Given the description of an element on the screen output the (x, y) to click on. 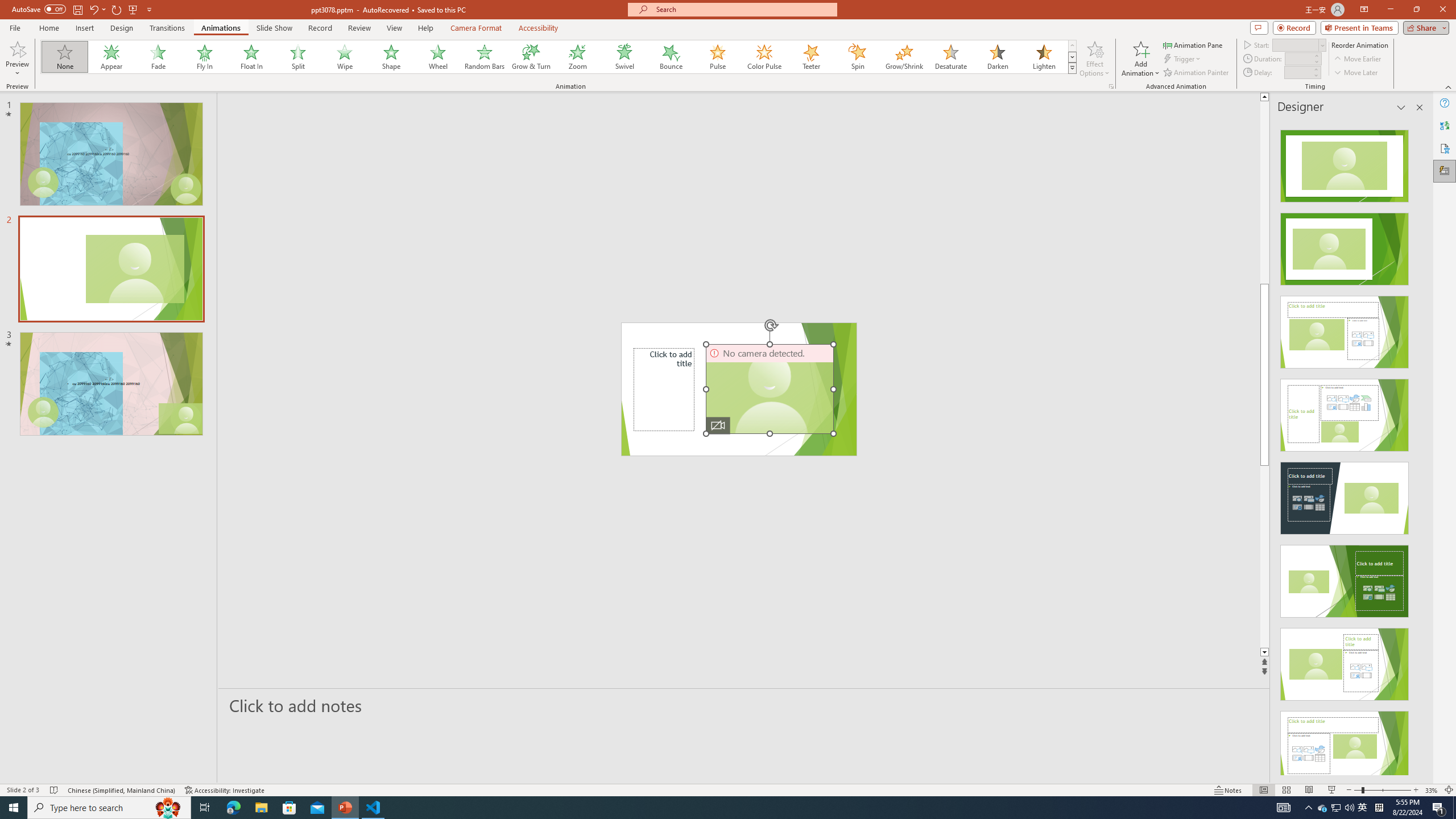
Trigger (1182, 58)
Fly In (205, 56)
Animation Styles (1071, 67)
Title TextBox (663, 389)
